Given the description of an element on the screen output the (x, y) to click on. 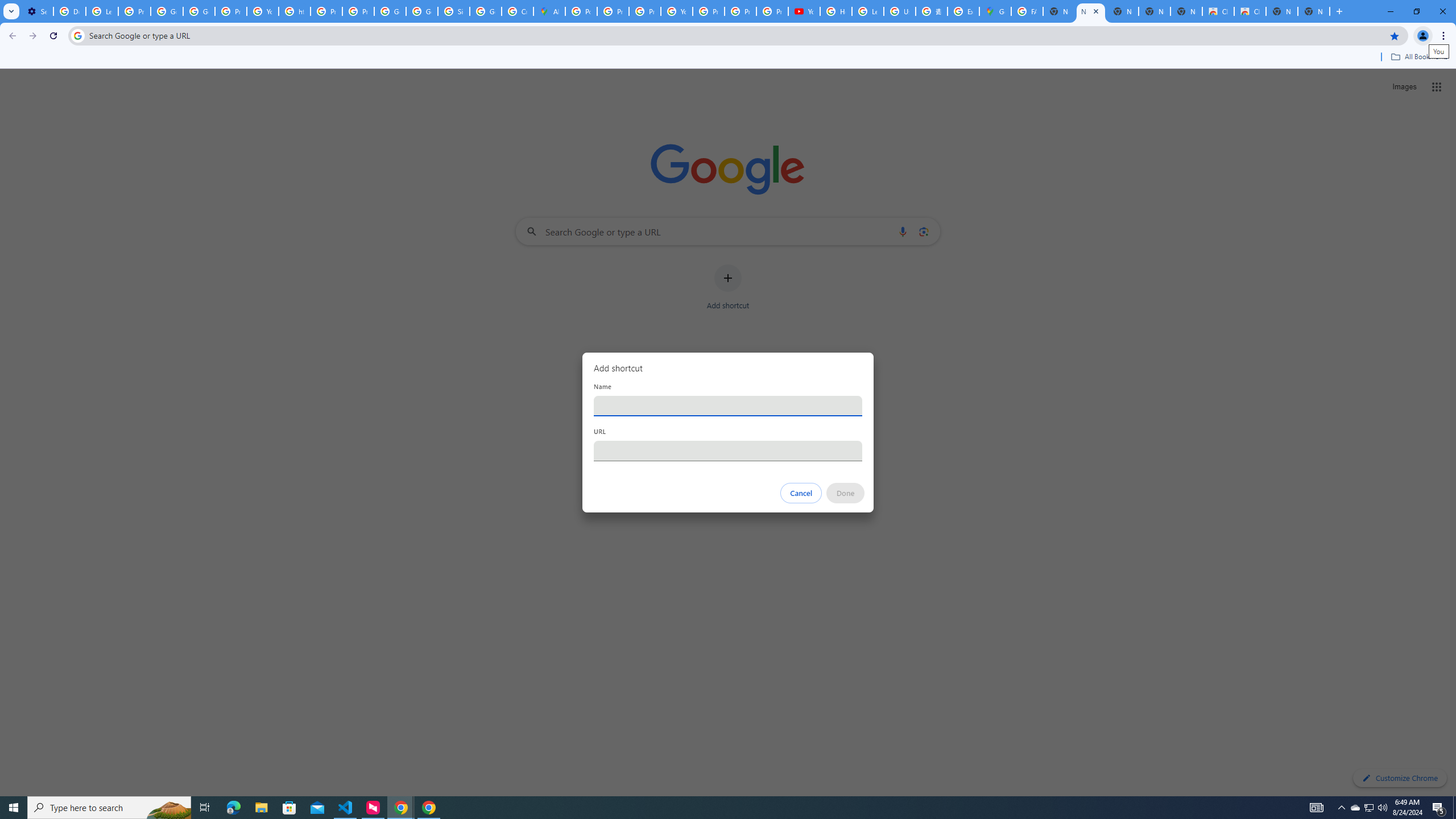
Delete photos & videos - Computer - Google Photos Help (69, 11)
Cancel (801, 493)
Settings - On startup (37, 11)
Privacy Checkup (772, 11)
Policy Accountability and Transparency - Transparency Center (581, 11)
Sign in - Google Accounts (453, 11)
Classic Blue - Chrome Web Store (1249, 11)
